Given the description of an element on the screen output the (x, y) to click on. 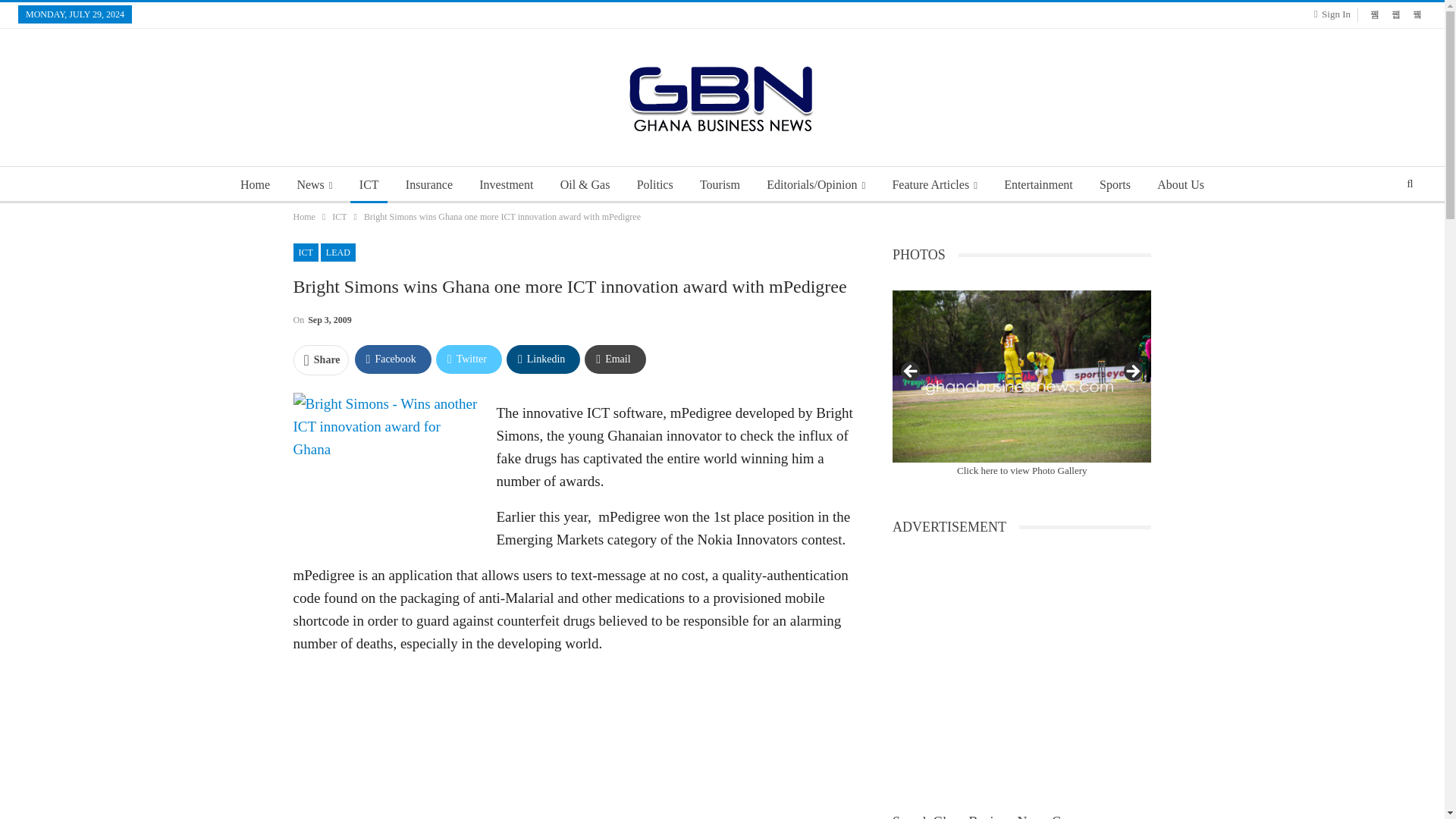
Twitter (468, 358)
LEAD (337, 252)
Tourism (719, 185)
Sports (1115, 185)
Entertainment (1037, 185)
Home (255, 185)
About Us (1180, 185)
Bright Simons (386, 472)
Sign In (1335, 13)
Insurance (428, 185)
ICT (369, 185)
ICT (304, 252)
Politics (654, 185)
Email (615, 358)
Home (303, 216)
